Given the description of an element on the screen output the (x, y) to click on. 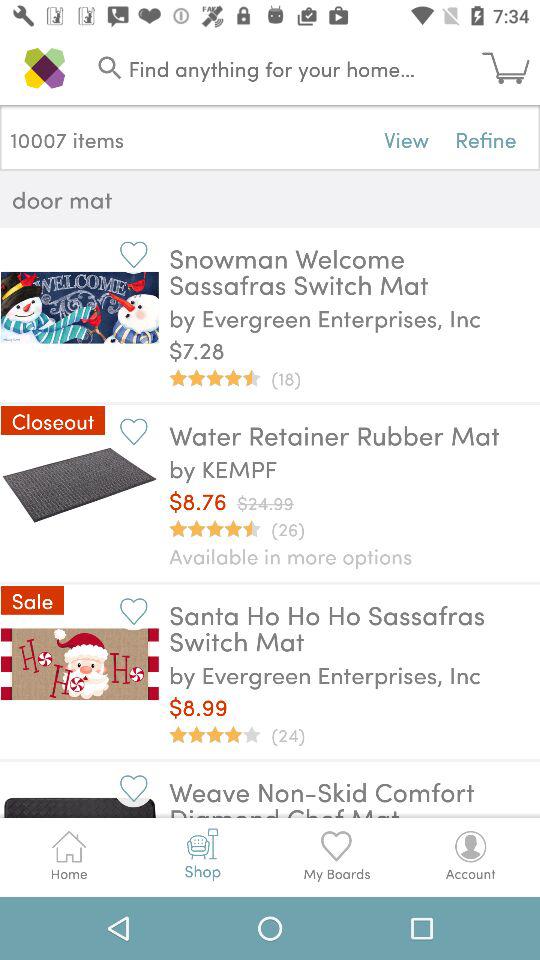
go to view (406, 138)
select favorite icon which is after closeout option (132, 430)
select the option refine which is on the top right of the screen (485, 138)
click on the heart symbol beside snowman welcome sassafras switch mat (132, 253)
